Given the description of an element on the screen output the (x, y) to click on. 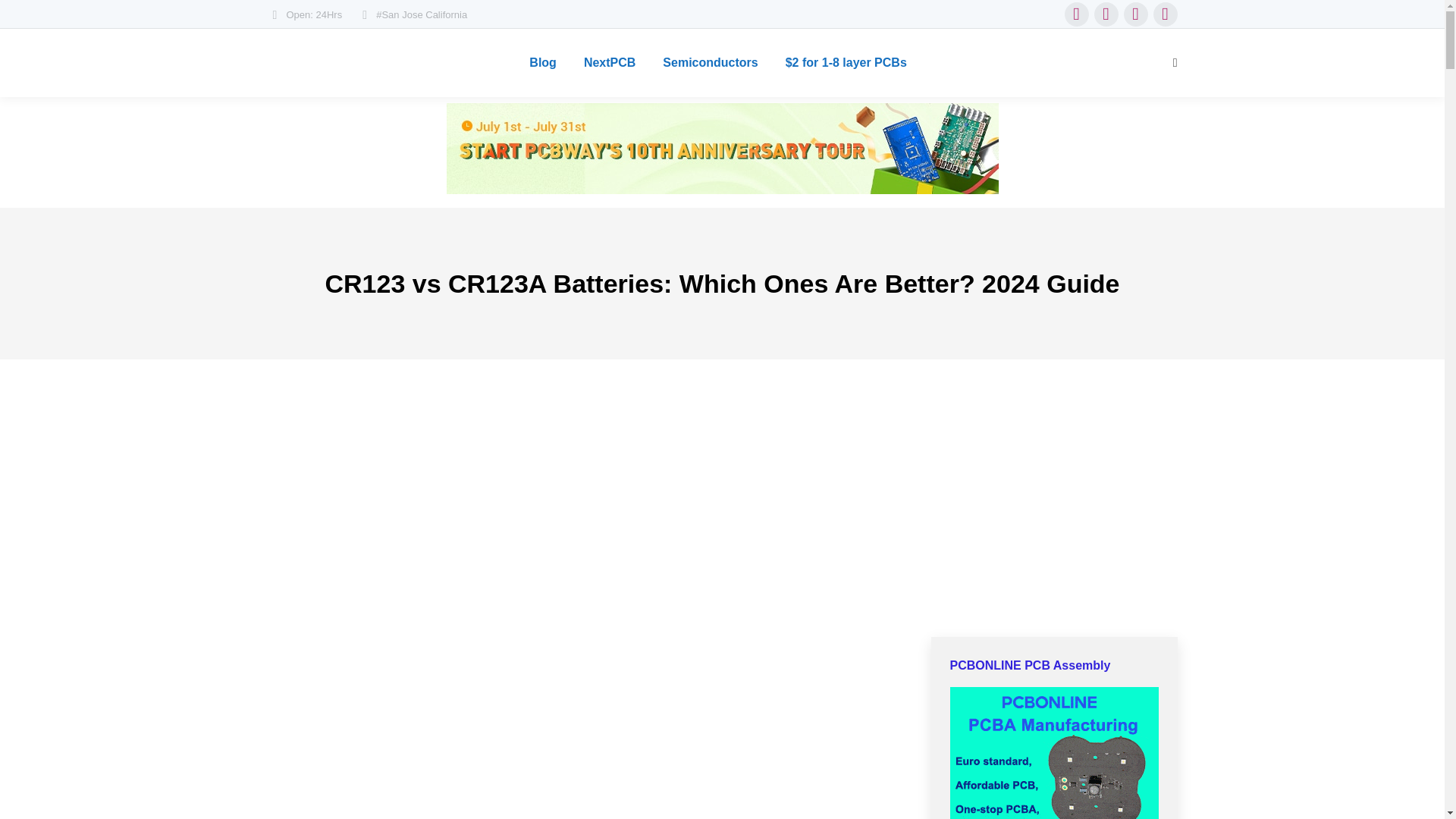
Open: 24Hrs (304, 14)
Facebook page opens in new window (1076, 14)
Semiconductors (709, 62)
YouTube page opens in new window (1165, 14)
NextPCB (609, 62)
X page opens in new window (1106, 14)
Facebook page opens in new window (1076, 14)
Go! (24, 16)
YouTube page opens in new window (1165, 14)
X page opens in new window (1106, 14)
Pinterest page opens in new window (1136, 14)
Pinterest page opens in new window (1136, 14)
